Given the description of an element on the screen output the (x, y) to click on. 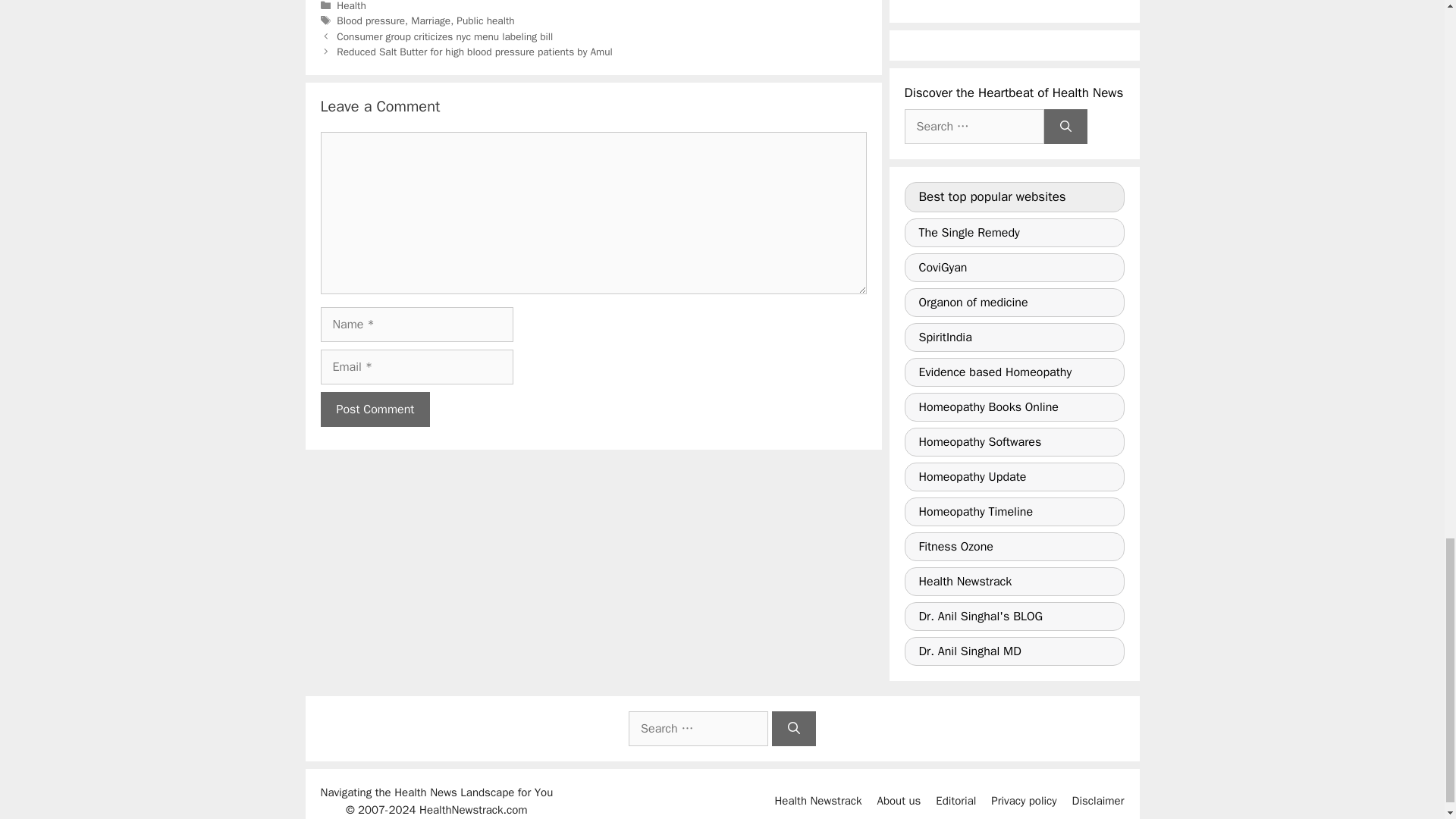
Post Comment (374, 409)
Health (351, 6)
Remedy portraits from homeopathic medicines (1014, 232)
Reduced Salt Butter for high blood pressure patients by Amul (474, 51)
Blood pressure (370, 20)
Marriage (429, 20)
Consumer group criticizes nyc menu labeling bill (444, 36)
Comprehensive health portal (1014, 337)
Search for: (973, 126)
Covid-19 and Health (1014, 267)
Resource on Homeopathy principles (1014, 302)
Public health (485, 20)
Scientific evidence on Homeopathy (1014, 371)
Online Homeopathy books (1014, 407)
